Given the description of an element on the screen output the (x, y) to click on. 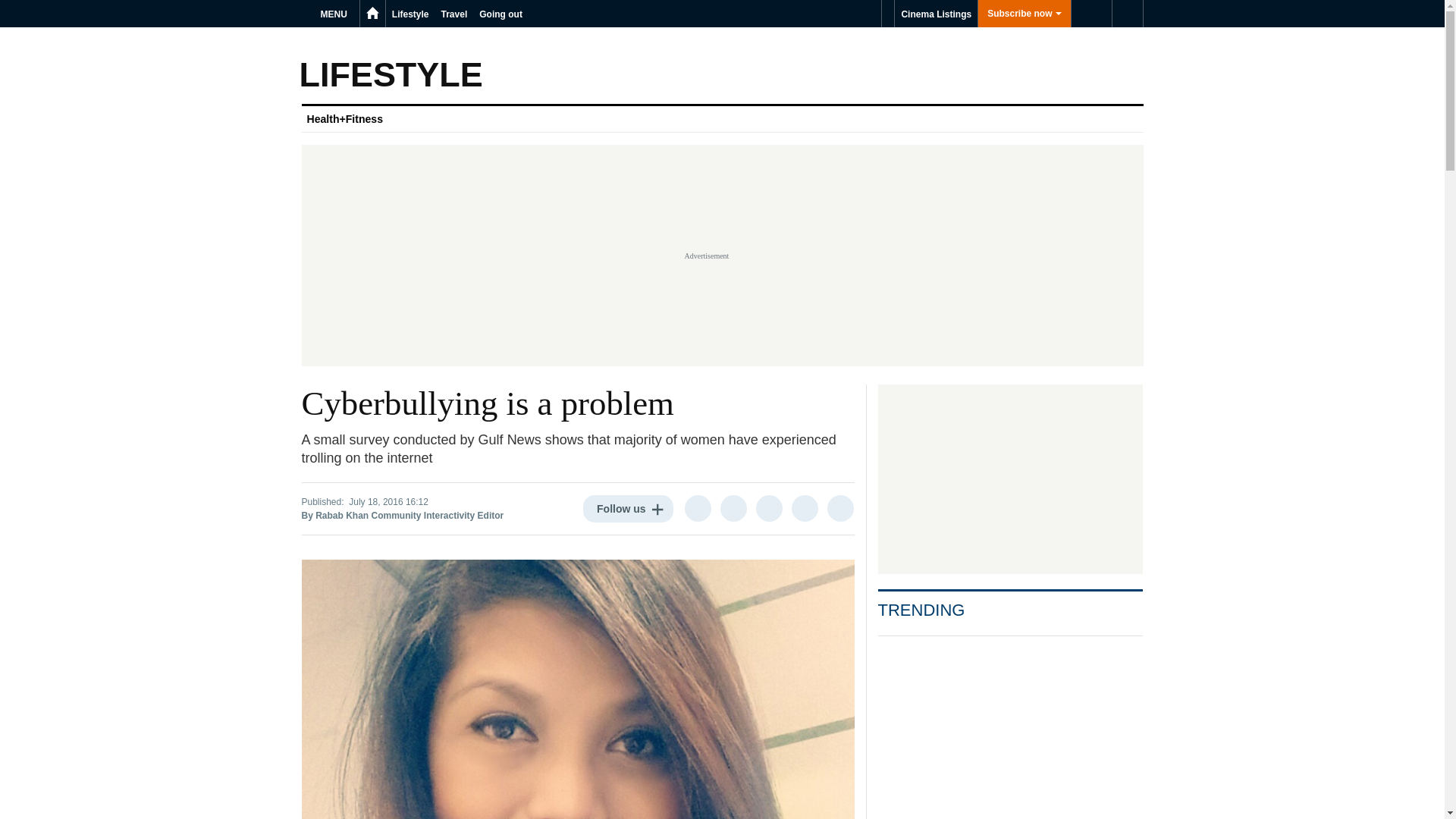
MENU (336, 13)
Going out (500, 13)
Lifestyle (410, 13)
Subscribe now (1024, 13)
Cinema Listings (935, 13)
Travel (454, 13)
